Given the description of an element on the screen output the (x, y) to click on. 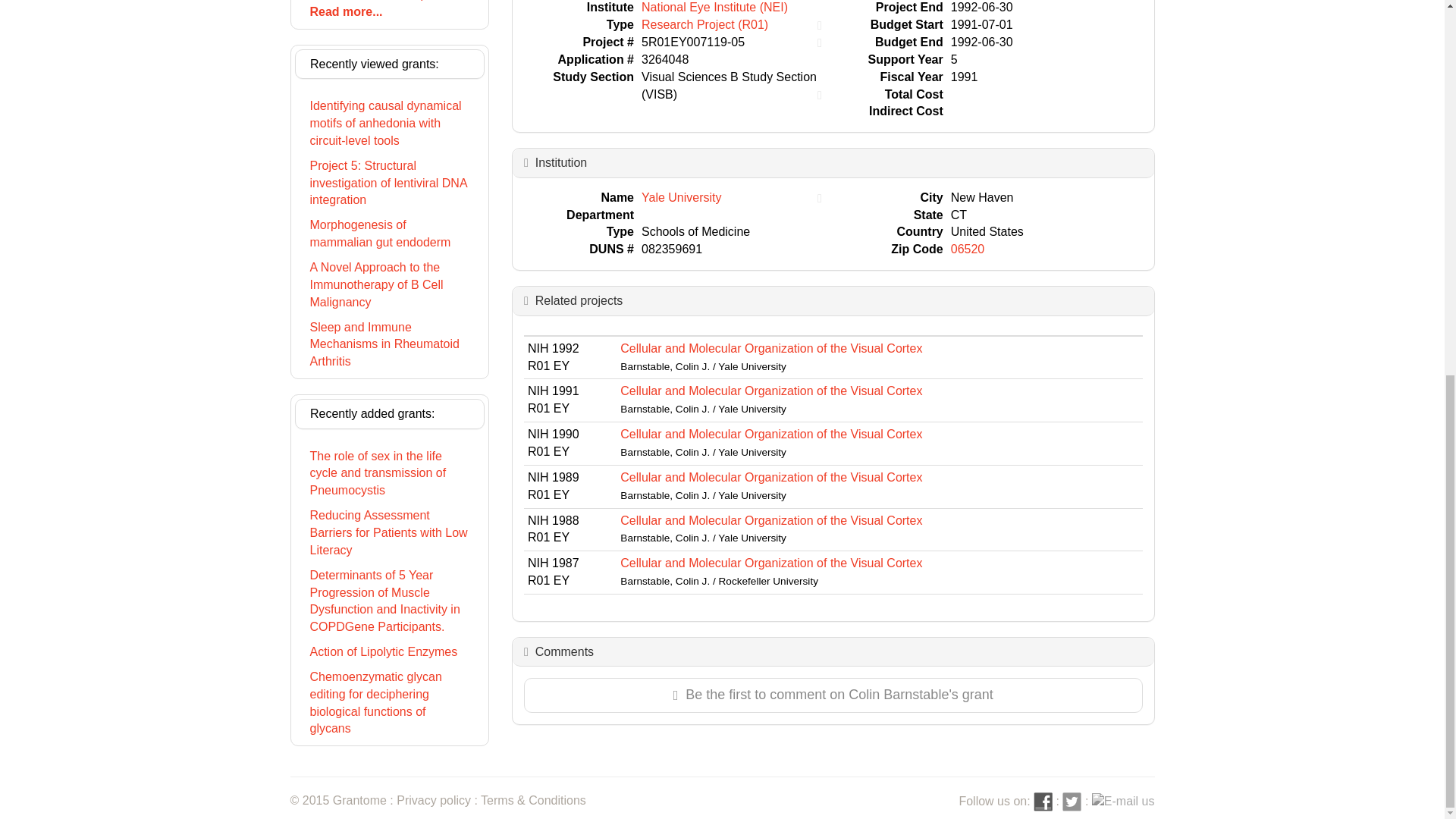
Morphogenesis of mammalian gut endoderm (389, 233)
A Novel Approach to the Immunotherapy of B Cell Malignancy (389, 285)
Reducing Assessment Barriers for Patients with Low Literacy (389, 533)
Action of Lipolytic Enzymes (389, 652)
